Given the description of an element on the screen output the (x, y) to click on. 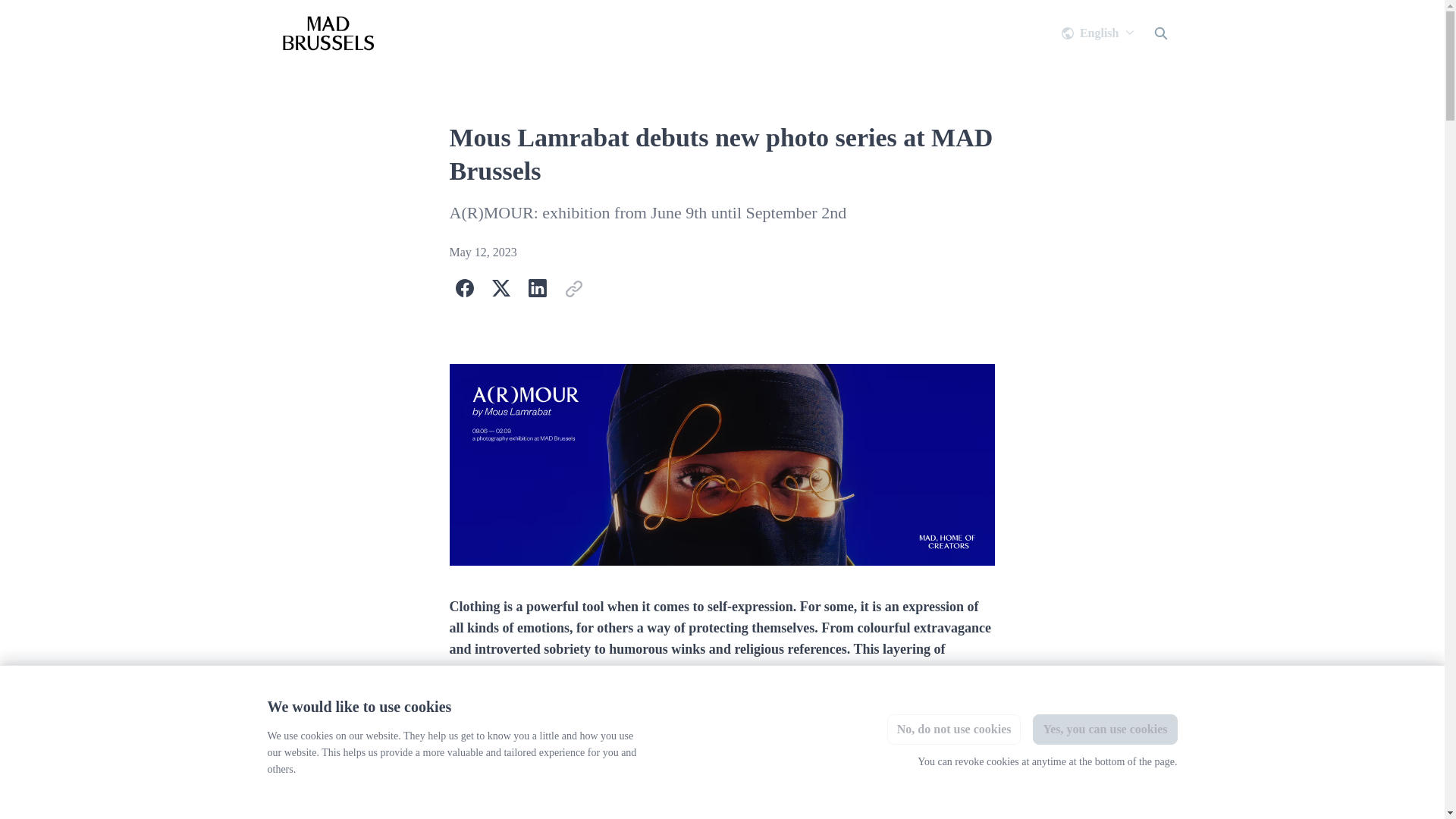
Yes, you can use cookies (1104, 730)
MAD BRUSSELS (327, 33)
Copy URL (572, 287)
English (1097, 33)
Search (1159, 32)
No, do not use cookies (954, 736)
